Given the description of an element on the screen output the (x, y) to click on. 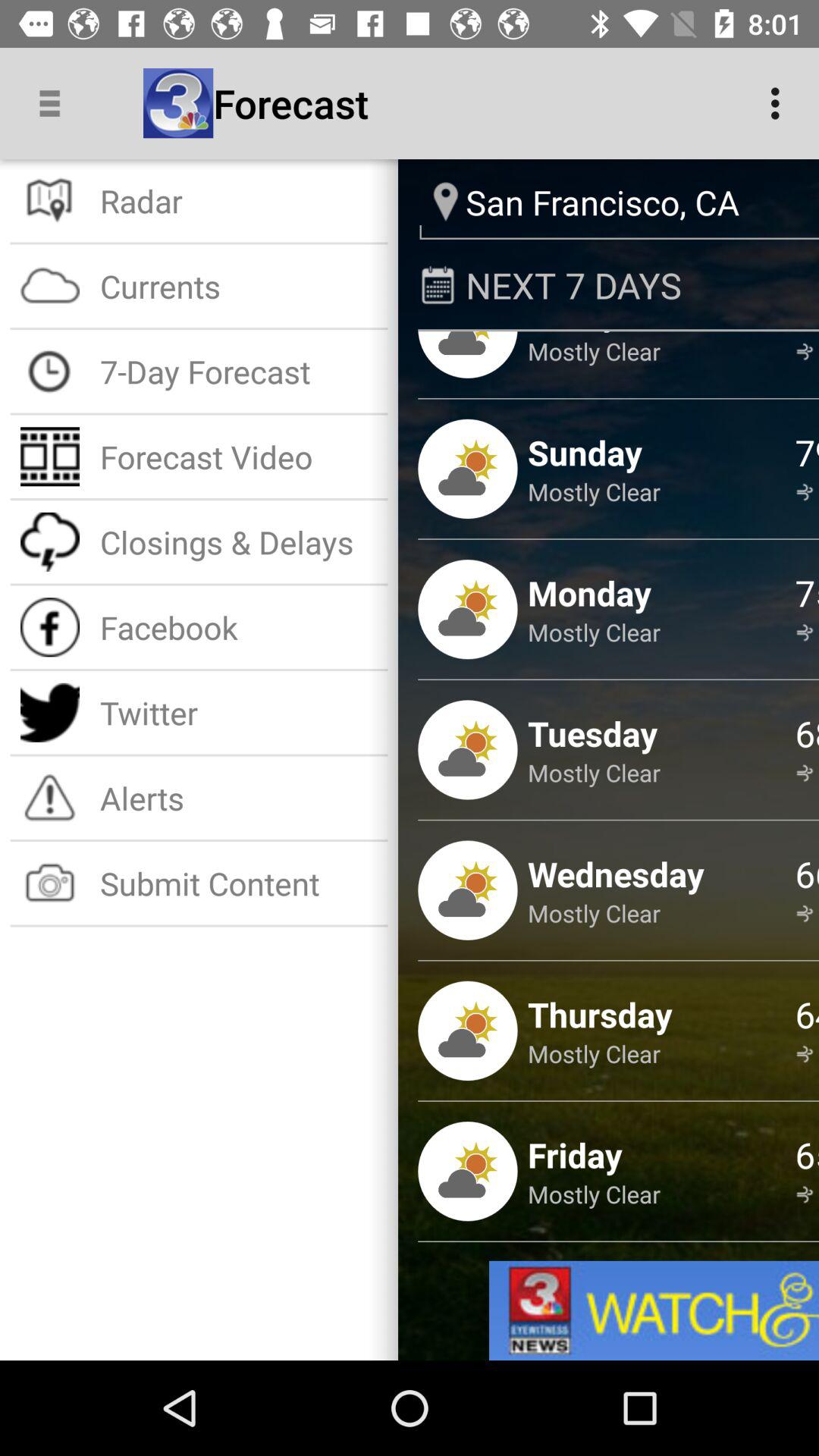
flip to radar (238, 200)
